Given the description of an element on the screen output the (x, y) to click on. 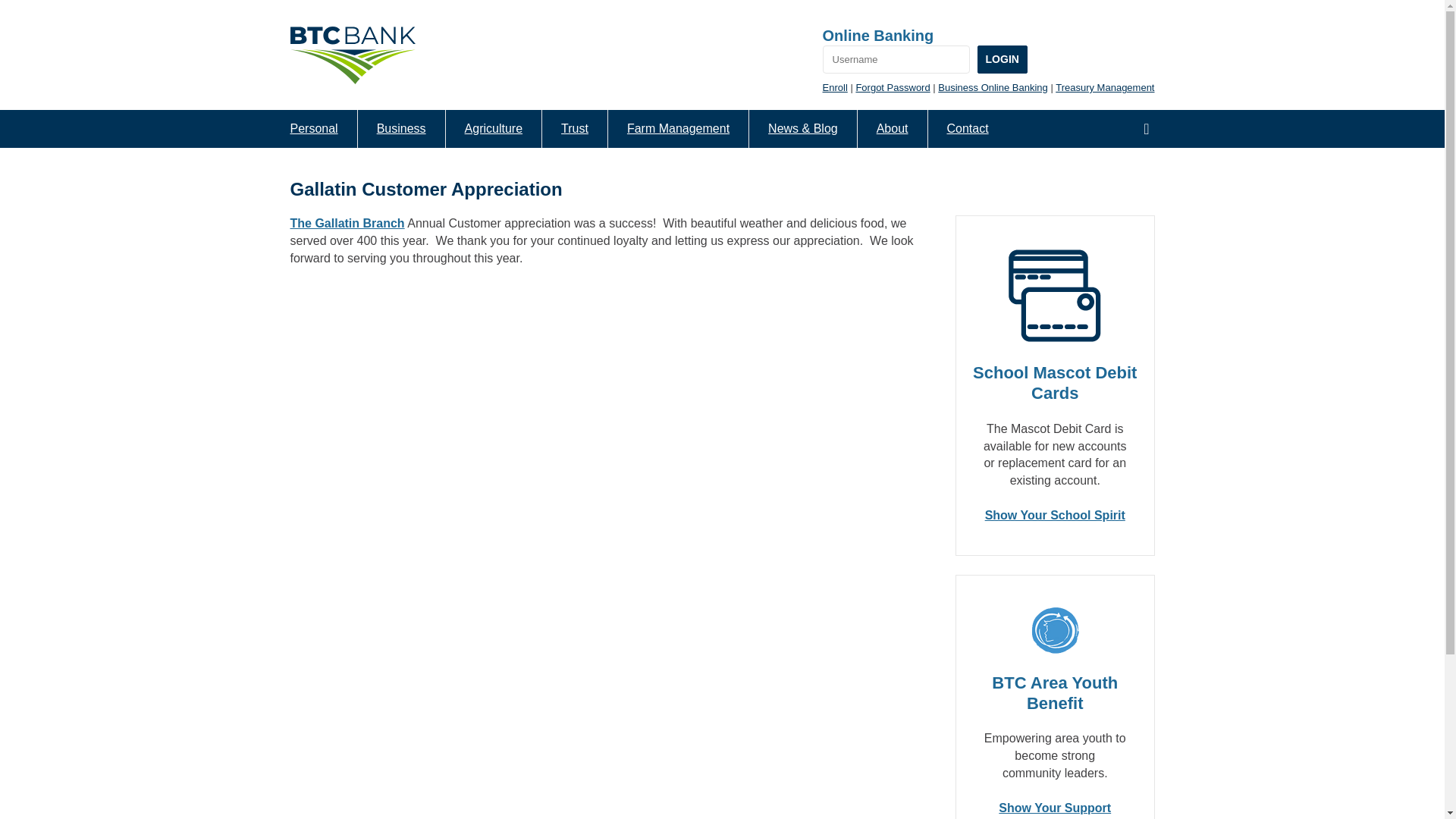
Business (400, 128)
Treasury Management (1104, 87)
Personal (313, 128)
BTC Bank, Bethany, MO (351, 54)
LOGIN (1001, 59)
Forgot Password (893, 87)
Enroll (834, 87)
Business Online Banking (992, 87)
